Given the description of an element on the screen output the (x, y) to click on. 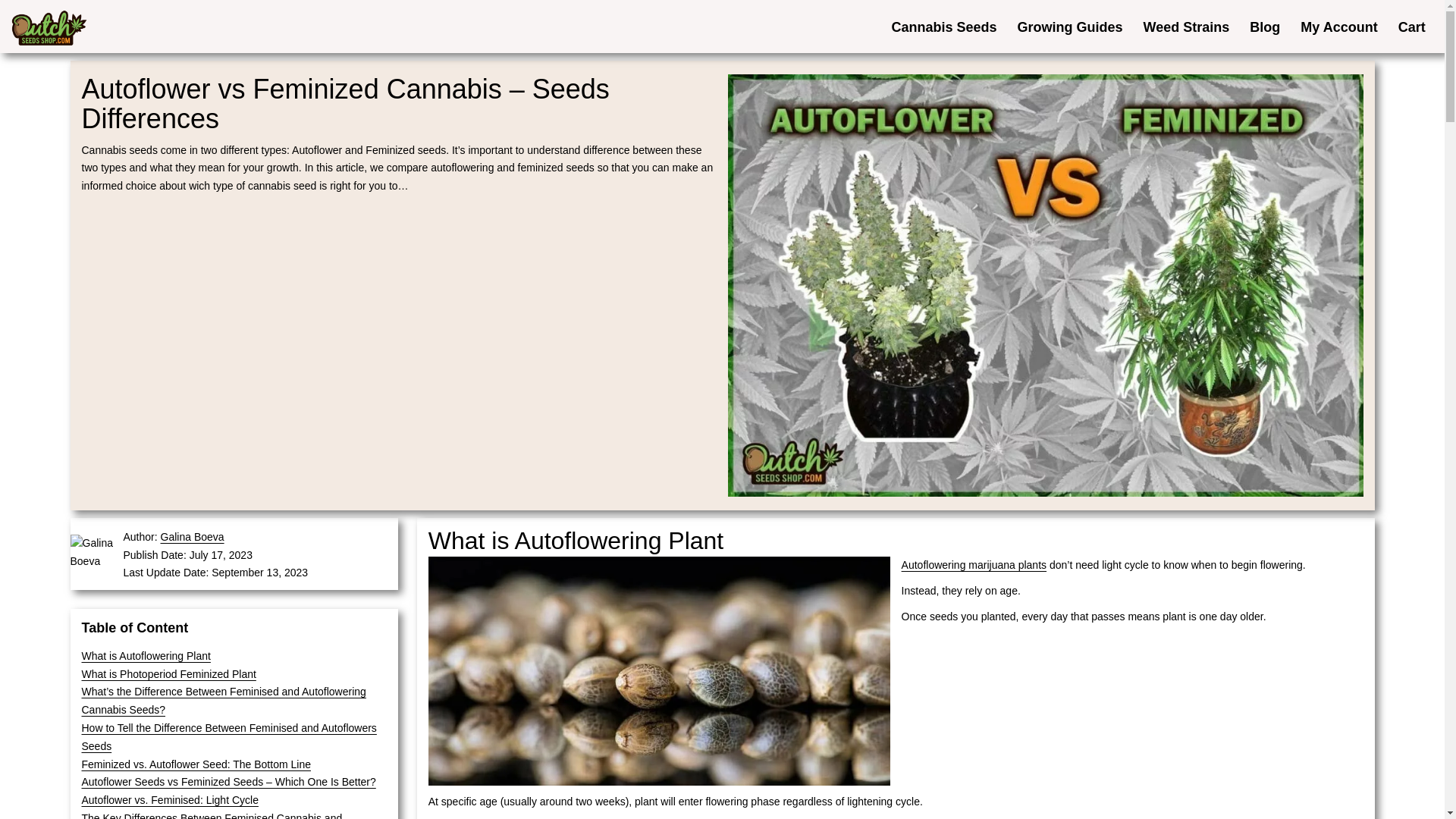
Cart (1411, 26)
Blog (1265, 26)
Weed Strains (1186, 26)
Growing Guides (1069, 26)
Feminized vs. Autoflower Seed: The Bottom Line (196, 764)
Galina Boeva (192, 536)
What is Photoperiod Feminized Plant (168, 674)
What is Autoflowering Plant (146, 655)
Cannabis Seeds (943, 26)
